Given the description of an element on the screen output the (x, y) to click on. 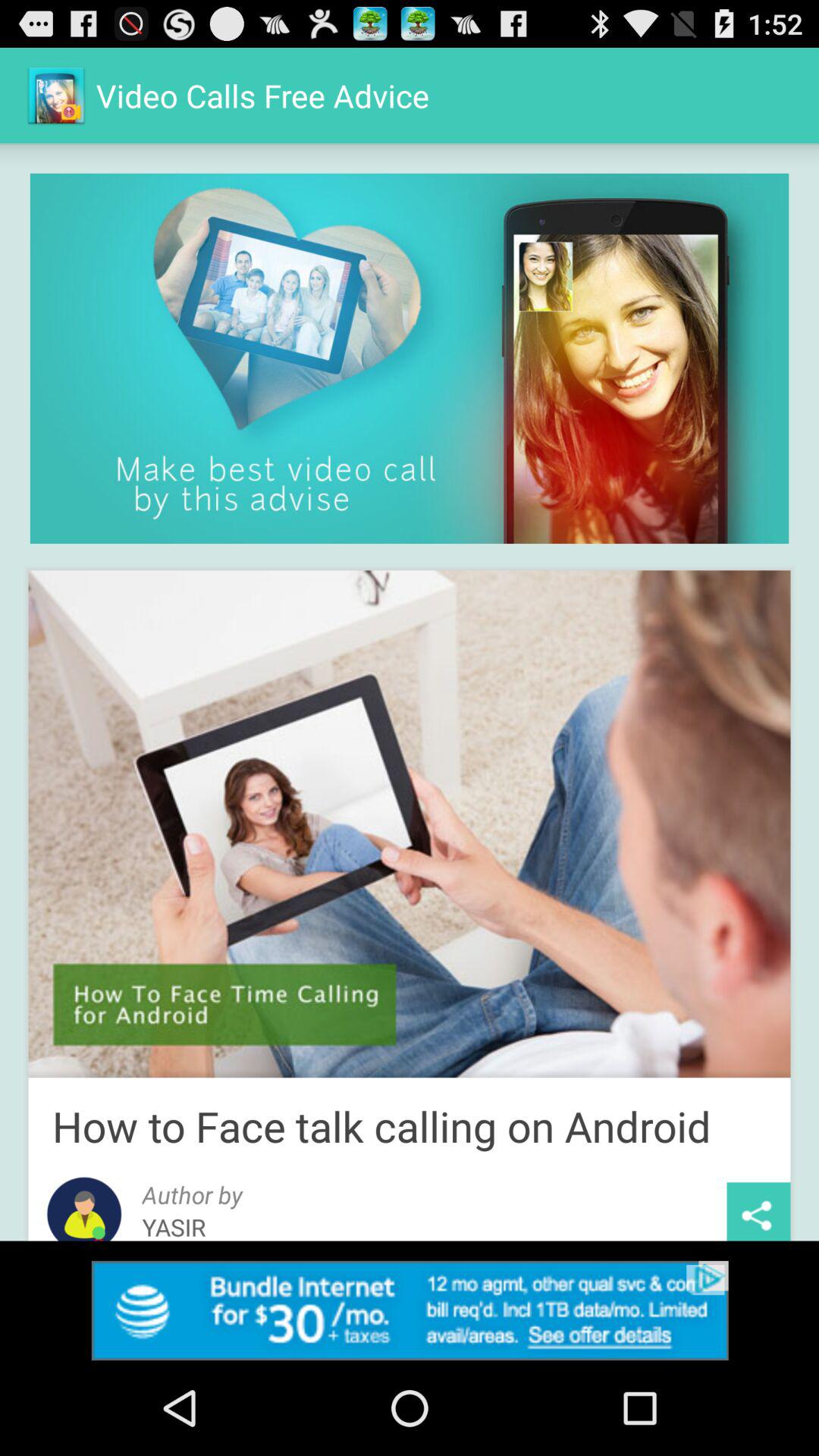
link to advertisement (409, 1310)
